Given the description of an element on the screen output the (x, y) to click on. 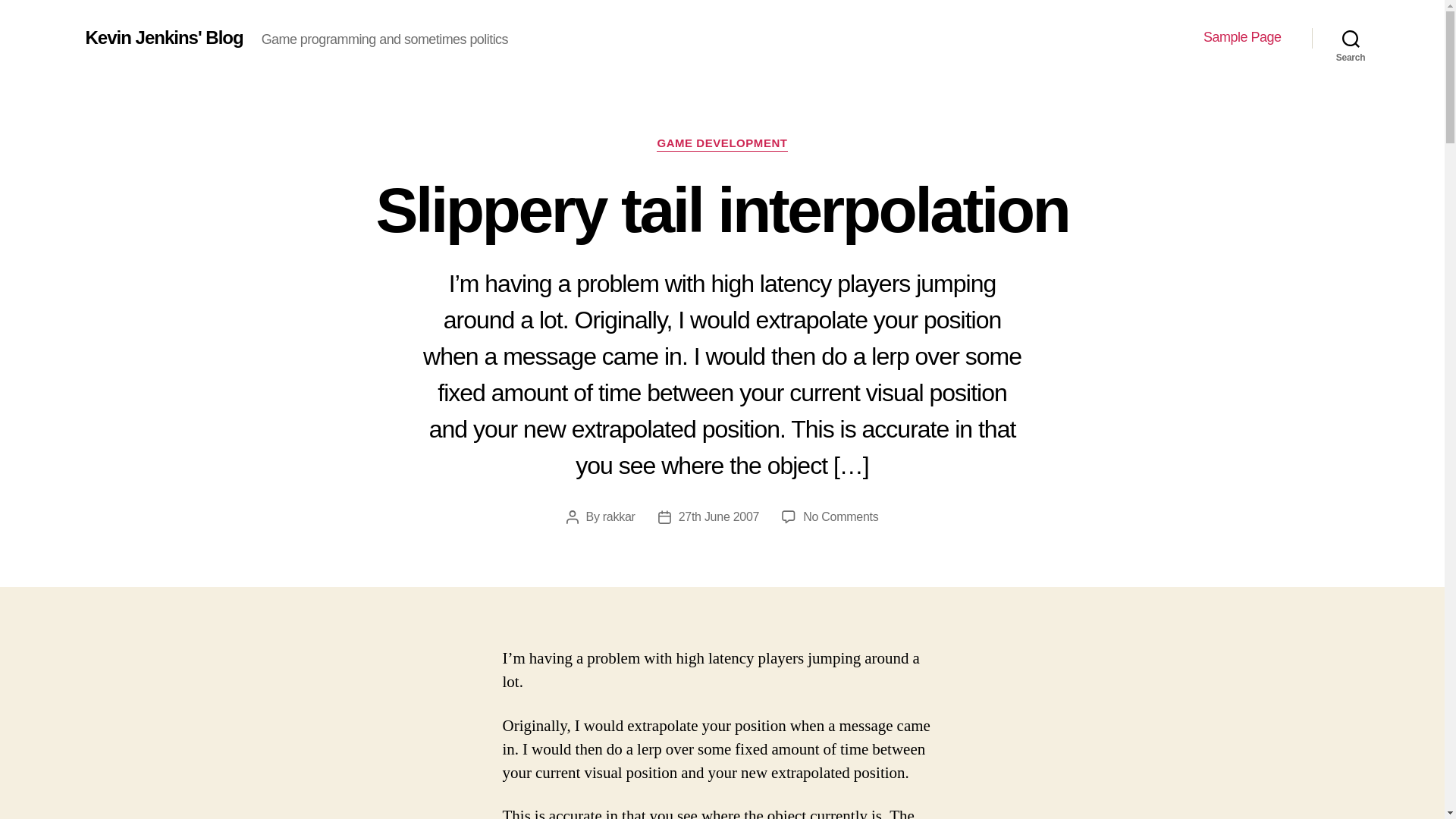
rakkar (618, 516)
GAME DEVELOPMENT (721, 143)
Search (1350, 37)
27th June 2007 (719, 516)
Sample Page (840, 516)
Kevin Jenkins' Blog (1242, 37)
